Given the description of an element on the screen output the (x, y) to click on. 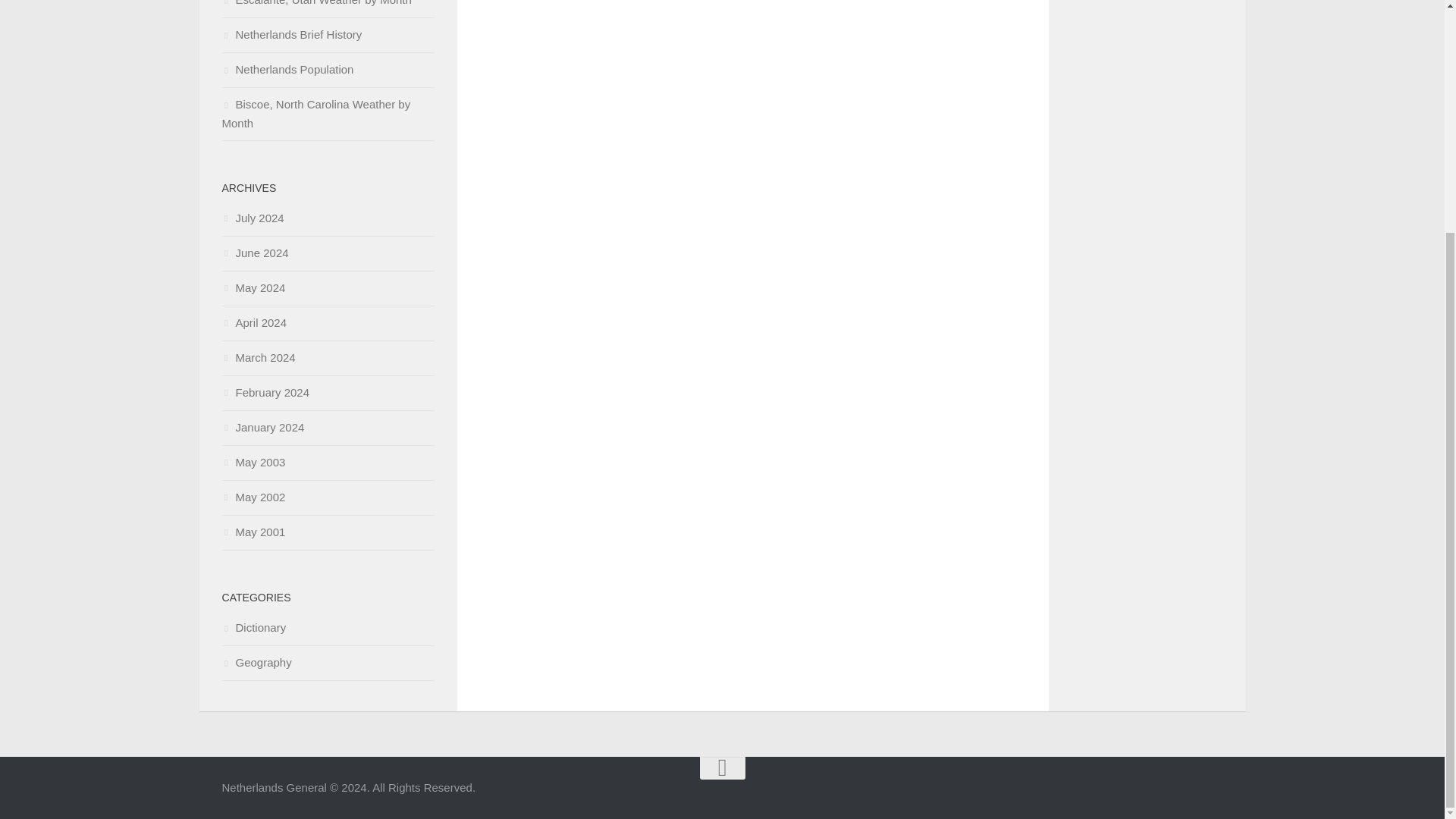
May 2024 (253, 287)
July 2024 (252, 217)
May 2001 (253, 531)
Geography (256, 662)
Netherlands Population (287, 69)
June 2024 (254, 252)
January 2024 (262, 427)
Netherlands Brief History (291, 33)
May 2003 (253, 461)
February 2024 (264, 391)
May 2002 (253, 496)
April 2024 (253, 322)
Biscoe, North Carolina Weather by Month (315, 113)
Dictionary (253, 626)
Escalante, Utah Weather by Month (315, 2)
